Given the description of an element on the screen output the (x, y) to click on. 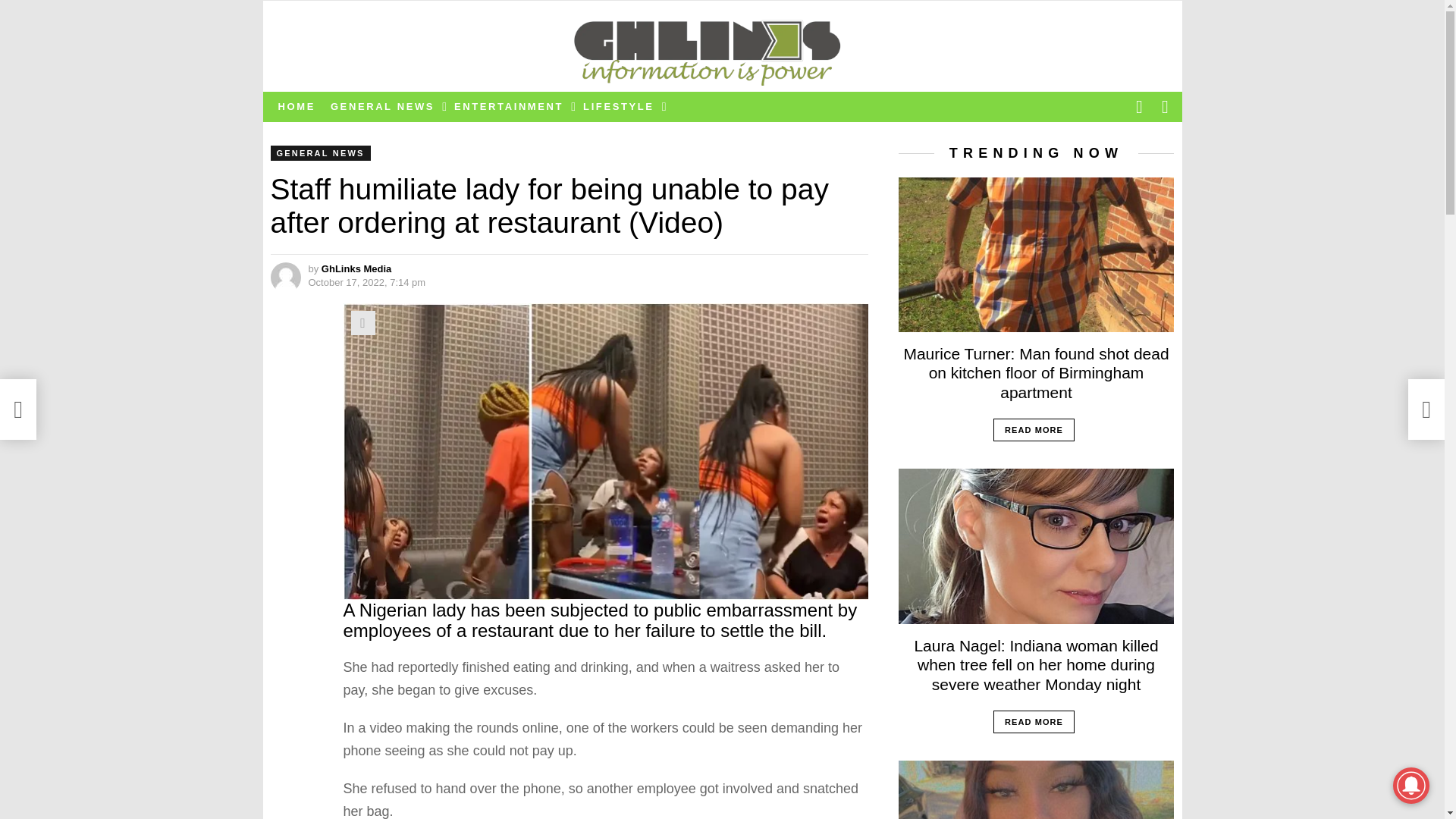
Posts by GhLinks Media (356, 268)
LIFESTYLE (620, 106)
ENTERTAINMENT (510, 106)
GhLinks Media (356, 268)
GENERAL NEWS (319, 152)
Share (362, 322)
HOME (295, 106)
GENERAL NEWS (384, 106)
